Given the description of an element on the screen output the (x, y) to click on. 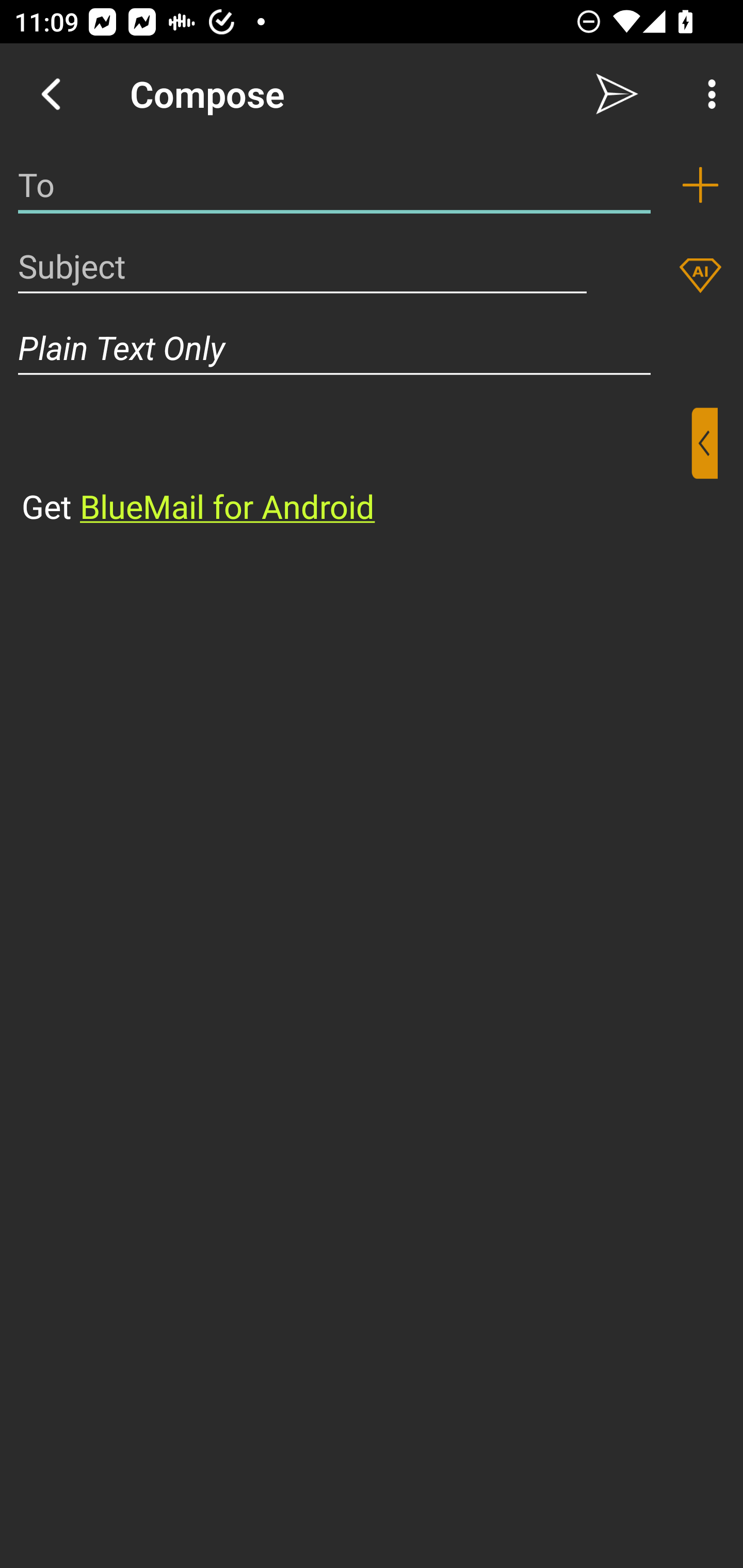
Navigate up (50, 93)
Send (616, 93)
More Options (706, 93)
To (334, 184)
Add recipient (To) (699, 184)
Subject (302, 266)
Plain Text Only (371, 347)


⁣Get BlueMail for Android ​ (355, 468)
